Given the description of an element on the screen output the (x, y) to click on. 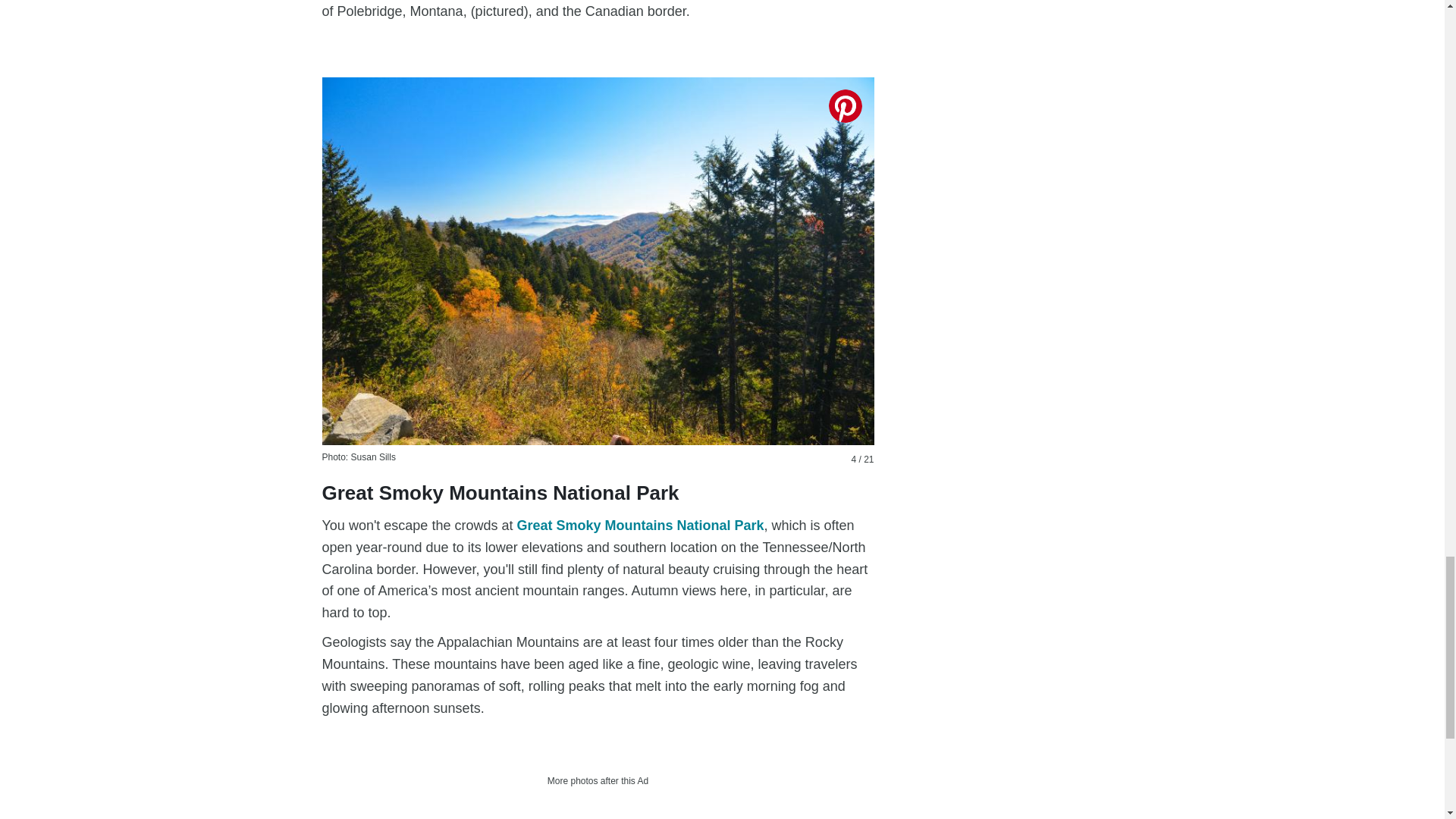
3rd party ad content (597, 806)
